Given the description of an element on the screen output the (x, y) to click on. 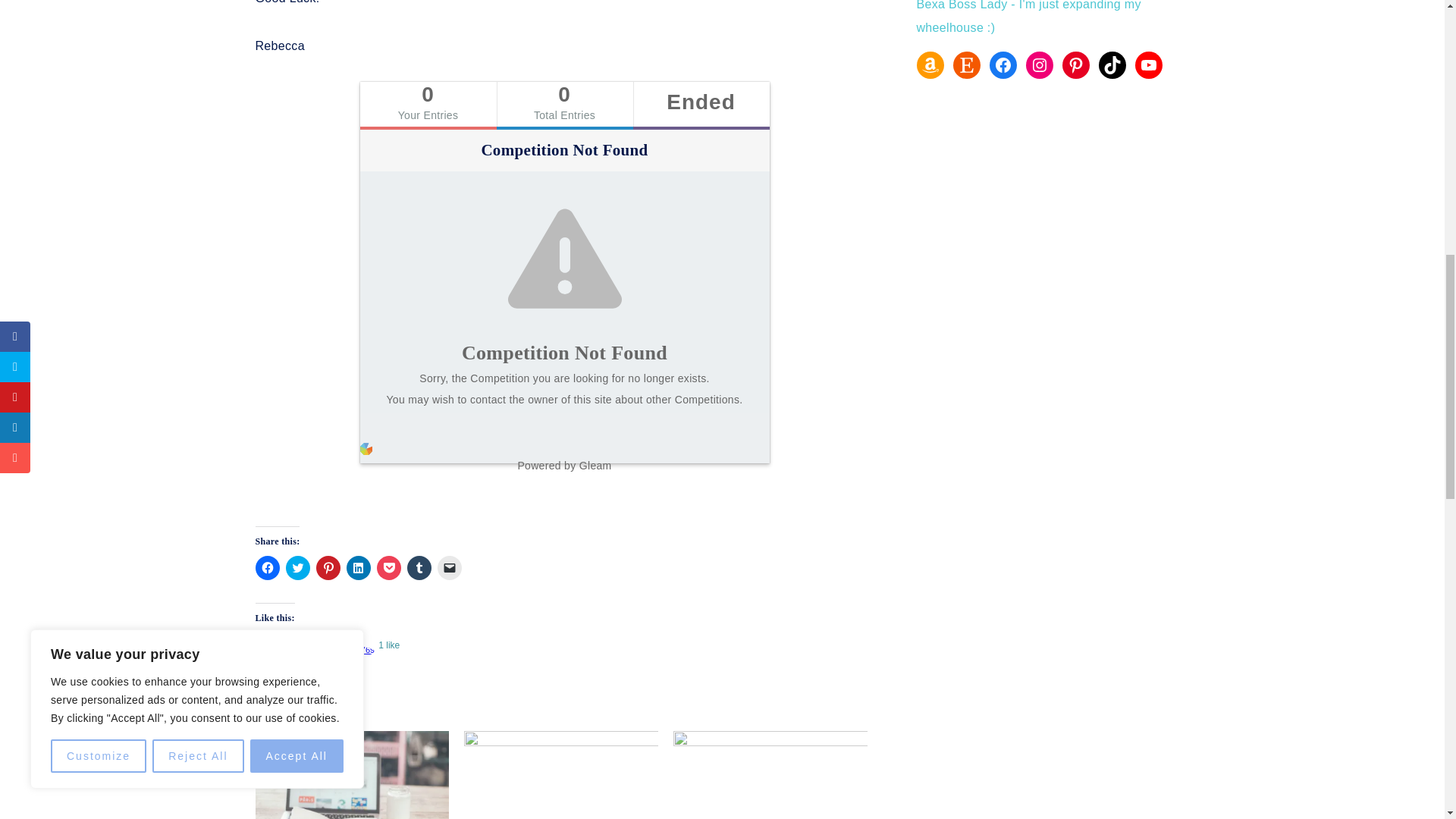
Click to share on Pinterest (327, 567)
Click to email a link to a friend (448, 567)
Click to share on Pocket (387, 567)
Click to share on Facebook (266, 567)
Click to share on LinkedIn (357, 567)
Make More Money Reselling Online! (769, 775)
2017 Reselling Review and Goals for 2018! (351, 775)
Click to share on Tumblr (418, 567)
Click to share on Twitter (296, 567)
Like or Reblog (563, 653)
